Given the description of an element on the screen output the (x, y) to click on. 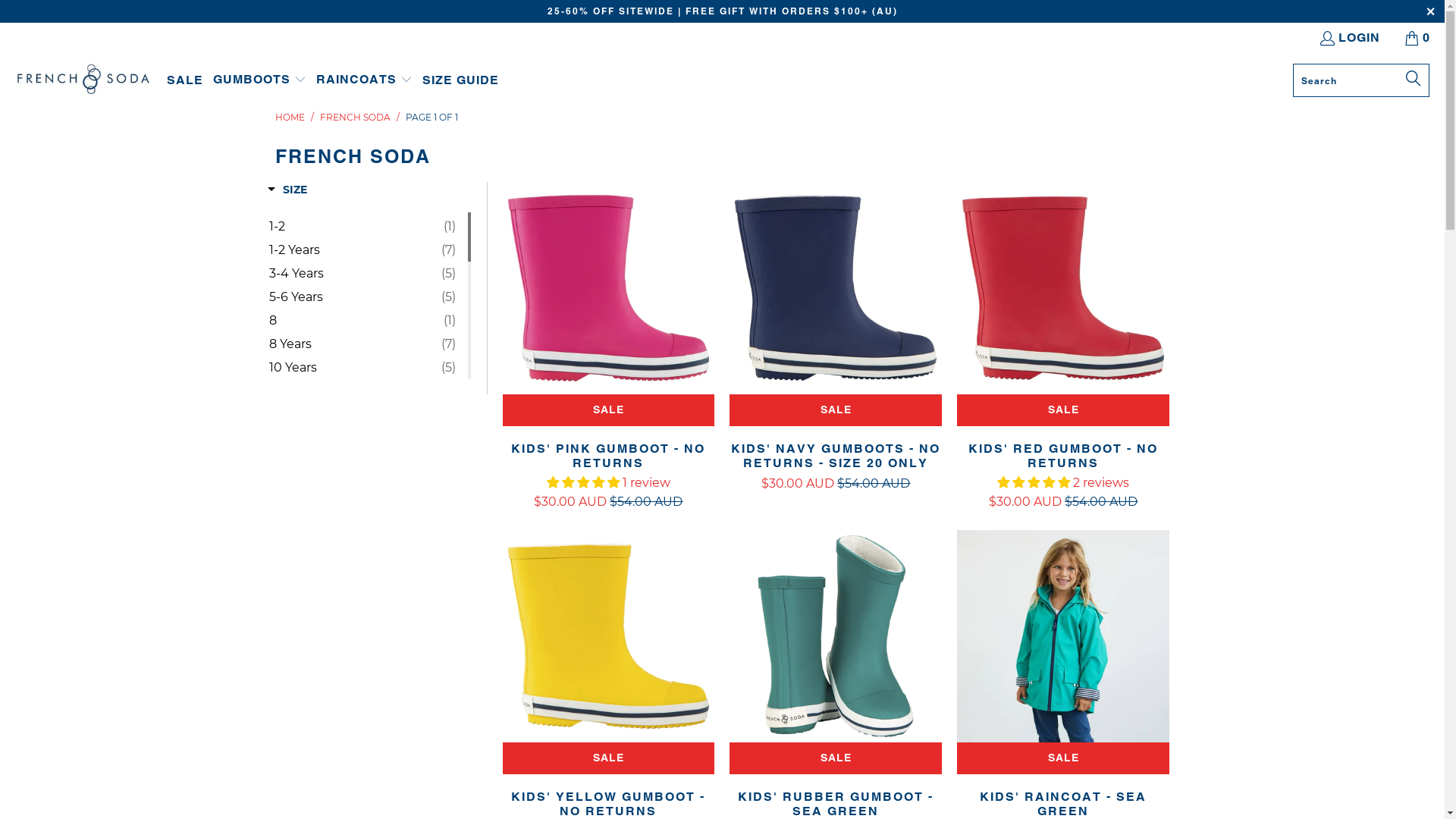
HOME Element type: text (289, 116)
FRENCH SODA Element type: text (355, 116)
34
(9) Element type: text (361, 720)
SIZE Element type: text (286, 191)
1-2
(1) Element type: text (361, 226)
3-4 Years
(5) Element type: text (361, 273)
5-6 Years
(5) Element type: text (361, 297)
32
(8) Element type: text (361, 673)
French Soda Element type: hover (83, 80)
25-60% OFF SITEWIDE | FREE GIFT WITH ORDERS $100+ (AU) Element type: text (722, 10)
0 Element type: text (1417, 37)
8 Years
(7) Element type: text (361, 344)
20
(8) Element type: text (361, 391)
29
(6) Element type: text (361, 602)
24
(5) Element type: text (361, 485)
31
(8) Element type: text (361, 649)
SALE Element type: text (184, 80)
26
(6) Element type: text (361, 532)
22
(5) Element type: text (361, 438)
27
(5) Element type: text (361, 555)
35
(5) Element type: text (361, 743)
1-2 Years
(7) Element type: text (361, 250)
LOGIN Element type: text (1348, 37)
23
(6) Element type: text (361, 461)
25
(5) Element type: text (361, 508)
30
(7) Element type: text (361, 626)
33
(9) Element type: text (361, 696)
28
(5) Element type: text (361, 579)
SIZE GUIDE Element type: text (460, 80)
8
(1) Element type: text (361, 320)
10 Years
(5) Element type: text (361, 367)
21
(7) Element type: text (361, 414)
36
(4) Element type: text (361, 767)
